Given the description of an element on the screen output the (x, y) to click on. 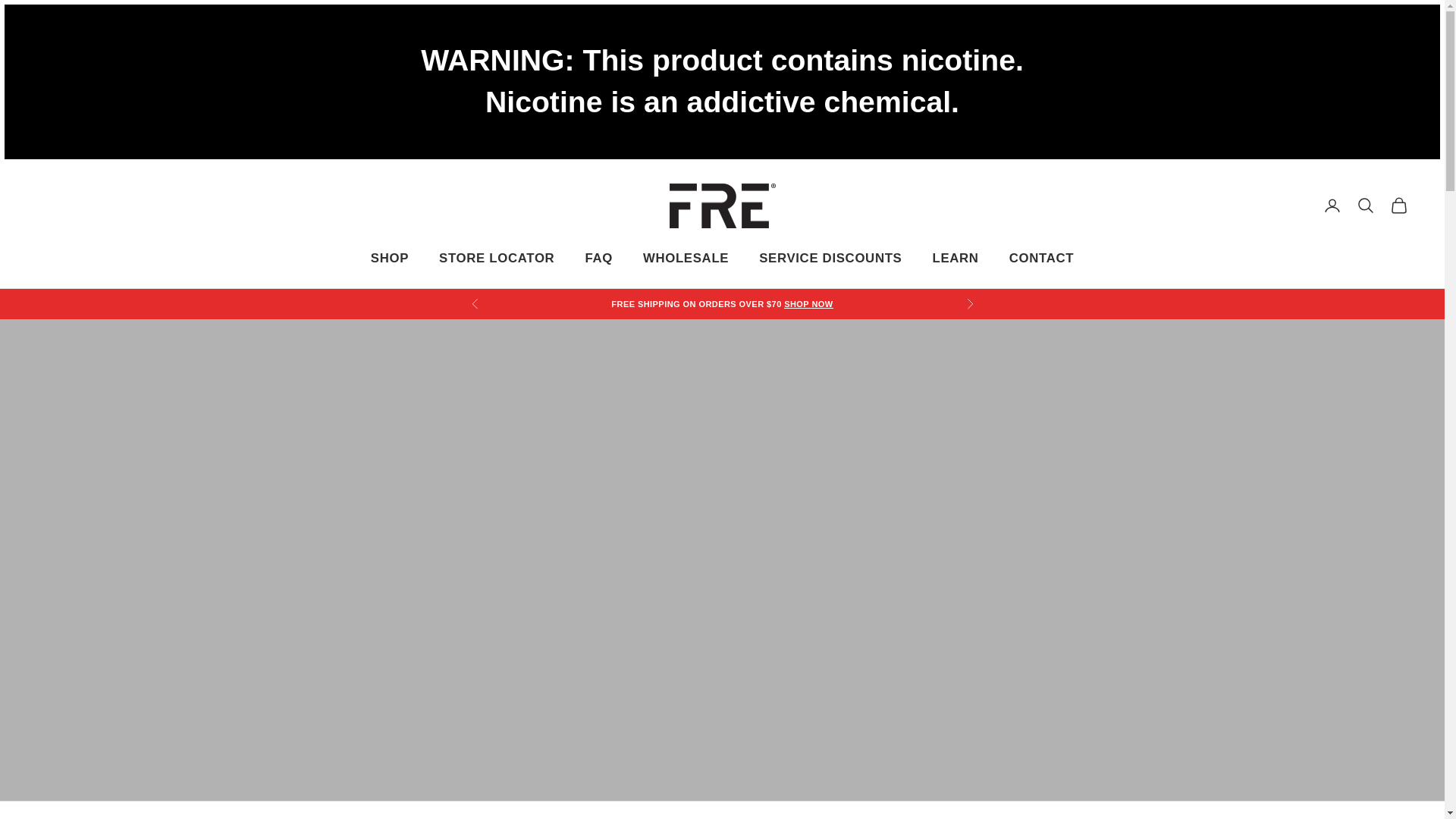
FAQ (598, 259)
SERVICE DISCOUNTS (829, 259)
SHOP NOW (808, 303)
LEARN (954, 259)
All Products (808, 303)
CONTACT (1041, 259)
STORE LOCATOR (496, 259)
Open cart (1398, 205)
Open account page (1331, 205)
Open search (1365, 205)
